Given the description of an element on the screen output the (x, y) to click on. 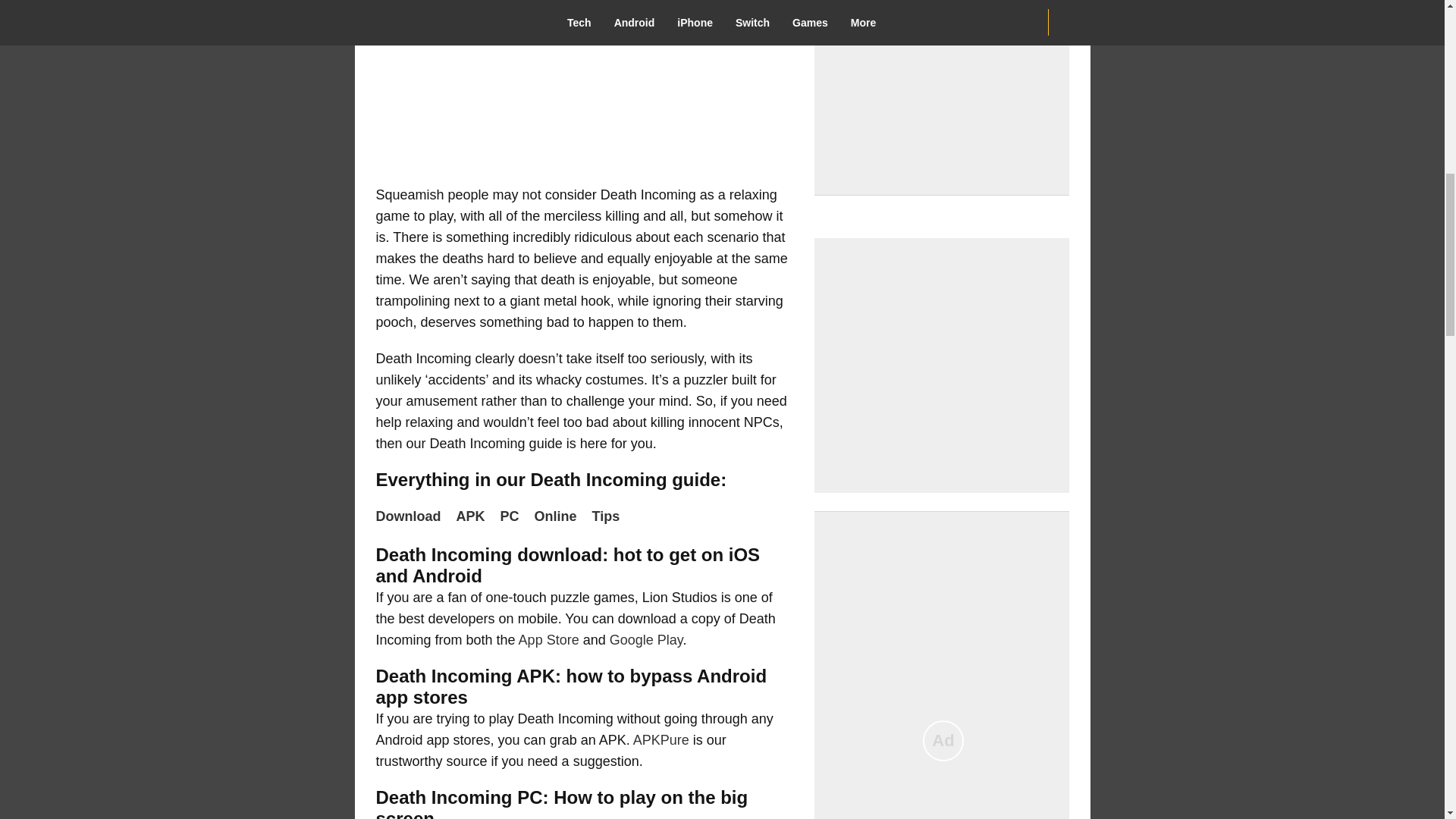
Download (411, 516)
App Store (548, 639)
Google Play (646, 639)
Online (559, 516)
PC (513, 516)
Tips (609, 516)
APK (475, 516)
